Given the description of an element on the screen output the (x, y) to click on. 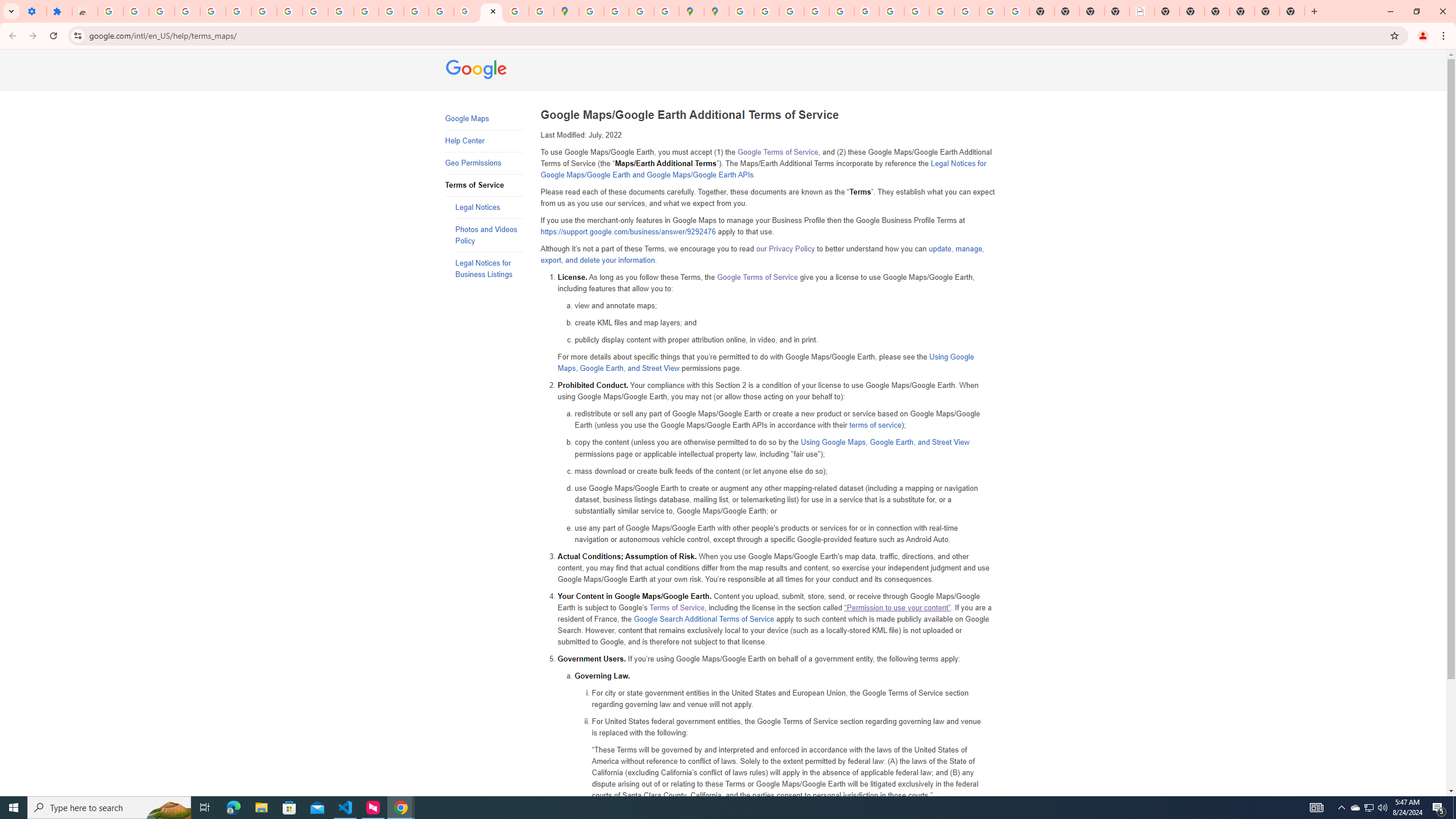
Sign in - Google Accounts (238, 11)
Google Maps (565, 11)
terms of service (874, 424)
New Tab (1216, 11)
Google Search Additional Terms of Service (703, 618)
Google Maps (484, 118)
YouTube (315, 11)
Sign in - Google Accounts (110, 11)
Extensions (59, 11)
https://support.google.com/business/answer/9292476 (628, 231)
Google Account (289, 11)
